Given the description of an element on the screen output the (x, y) to click on. 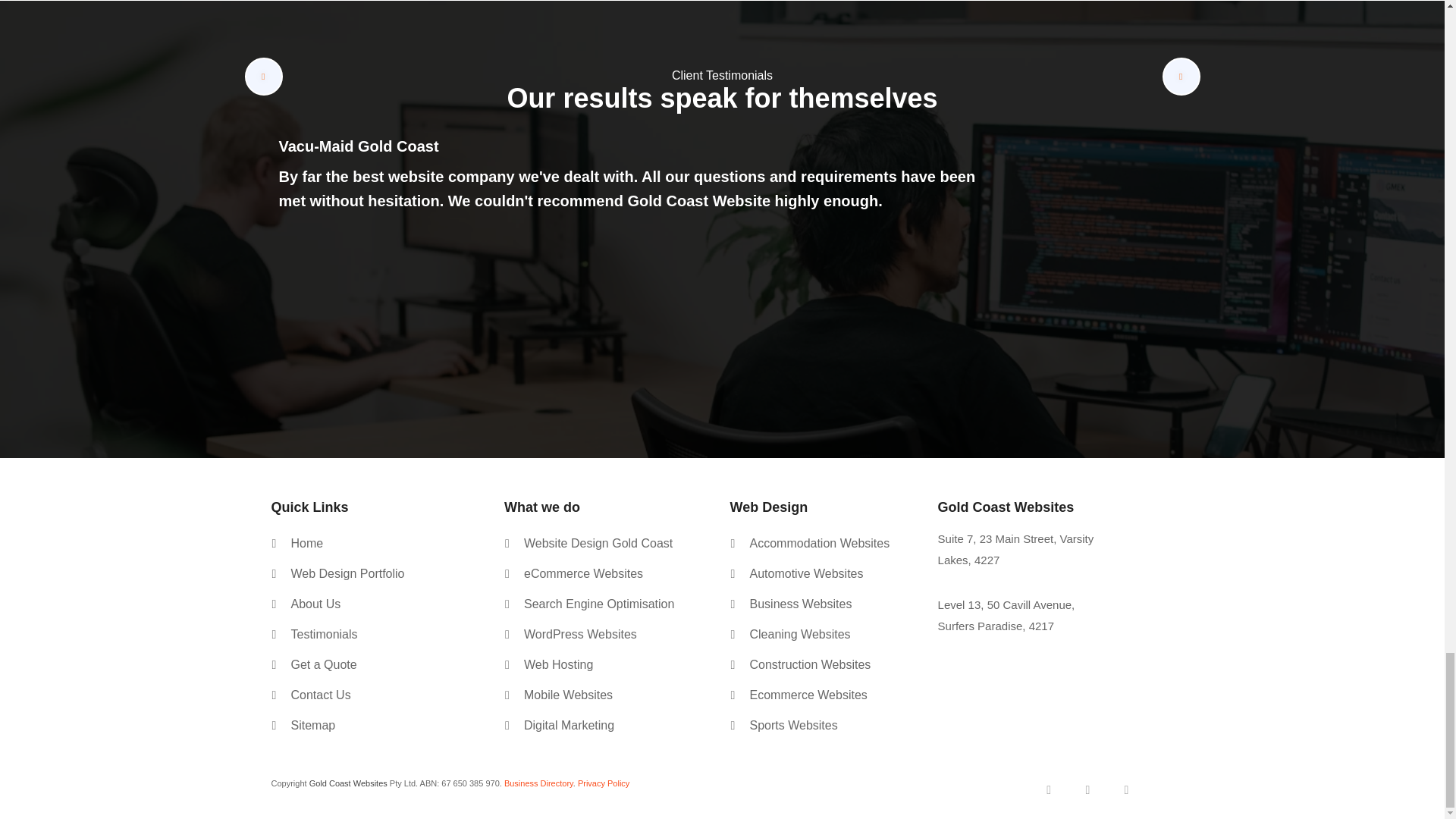
Accommodation  (819, 543)
Gold Coast Web Hosting (558, 665)
Gold Coast Cleaning Websites (799, 634)
Automotive (806, 573)
Gold Coast Business Websites (800, 603)
